Given the description of an element on the screen output the (x, y) to click on. 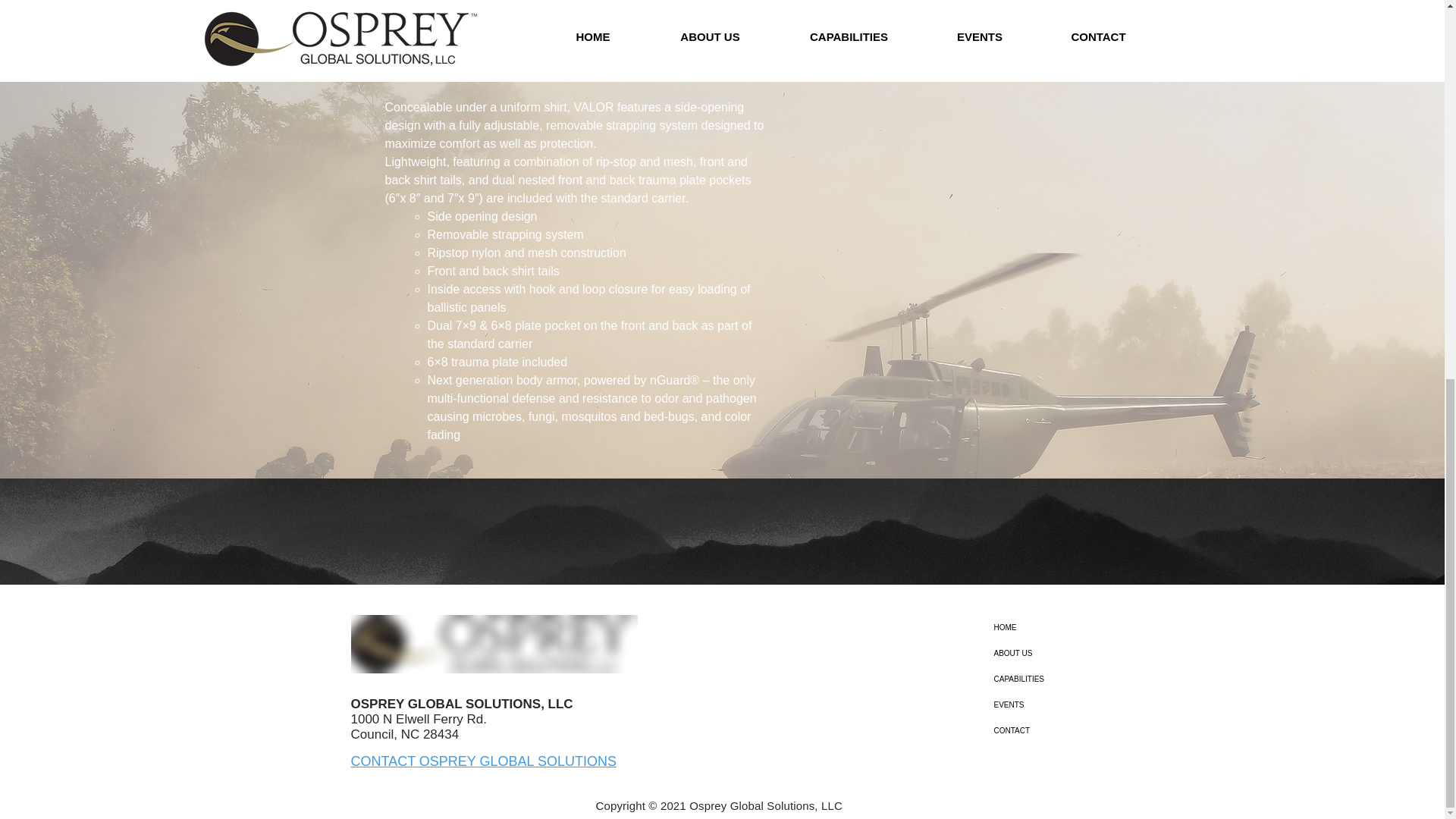
CONTACT (1083, 730)
EVENTS (1083, 705)
CONTACT OSPREY GLOBAL SOLUTIONS (482, 761)
HOME (1083, 627)
